Given the description of an element on the screen output the (x, y) to click on. 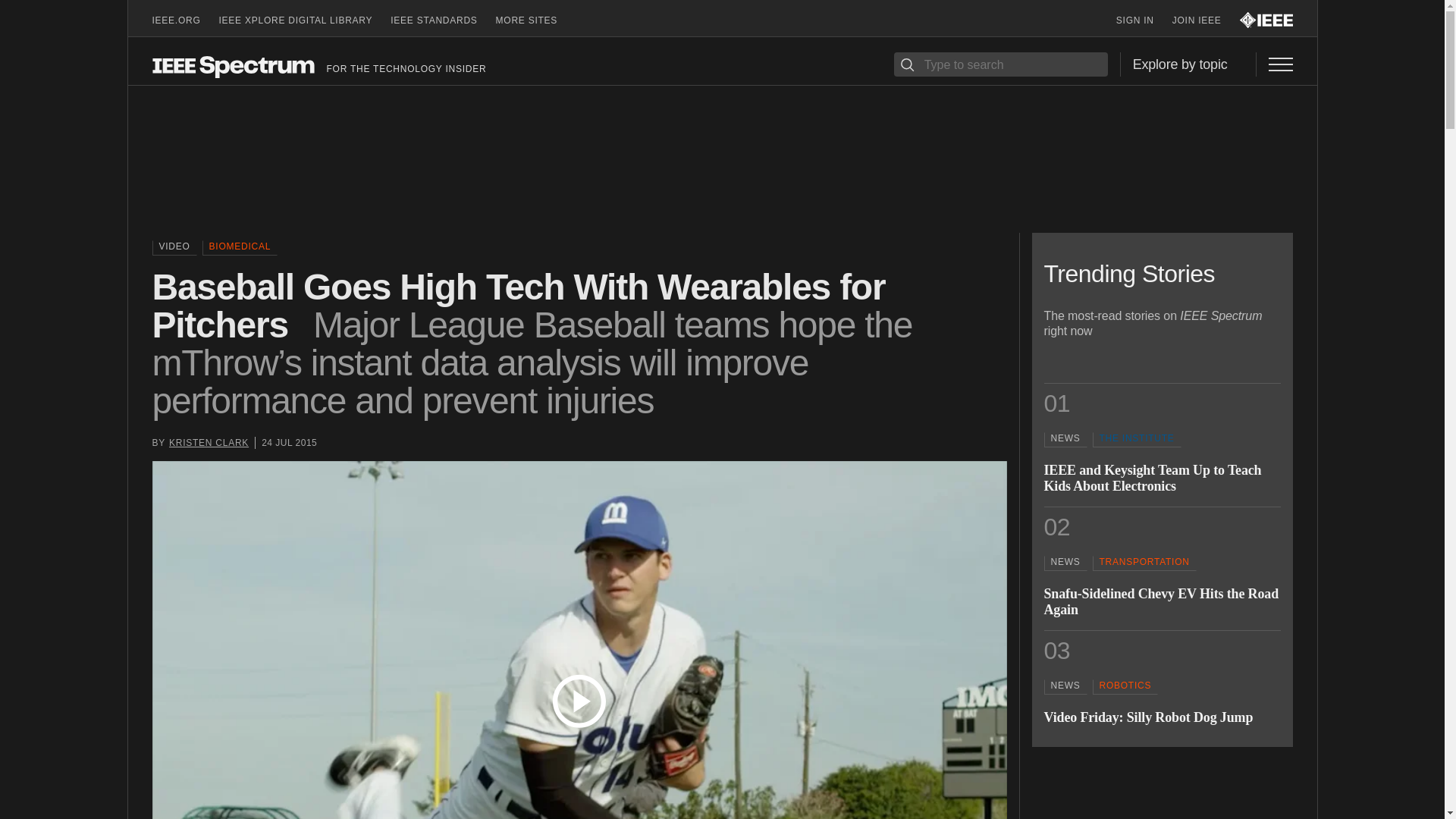
Spectrum Logo (232, 65)
IEEE.ORG (184, 20)
MORE SITES (536, 20)
JOIN IEEE (1206, 20)
Search (907, 64)
IEEE XPLORE DIGITAL LIBRARY (305, 20)
IEEE STANDARDS (442, 20)
SIGN IN (1144, 20)
